Given the description of an element on the screen output the (x, y) to click on. 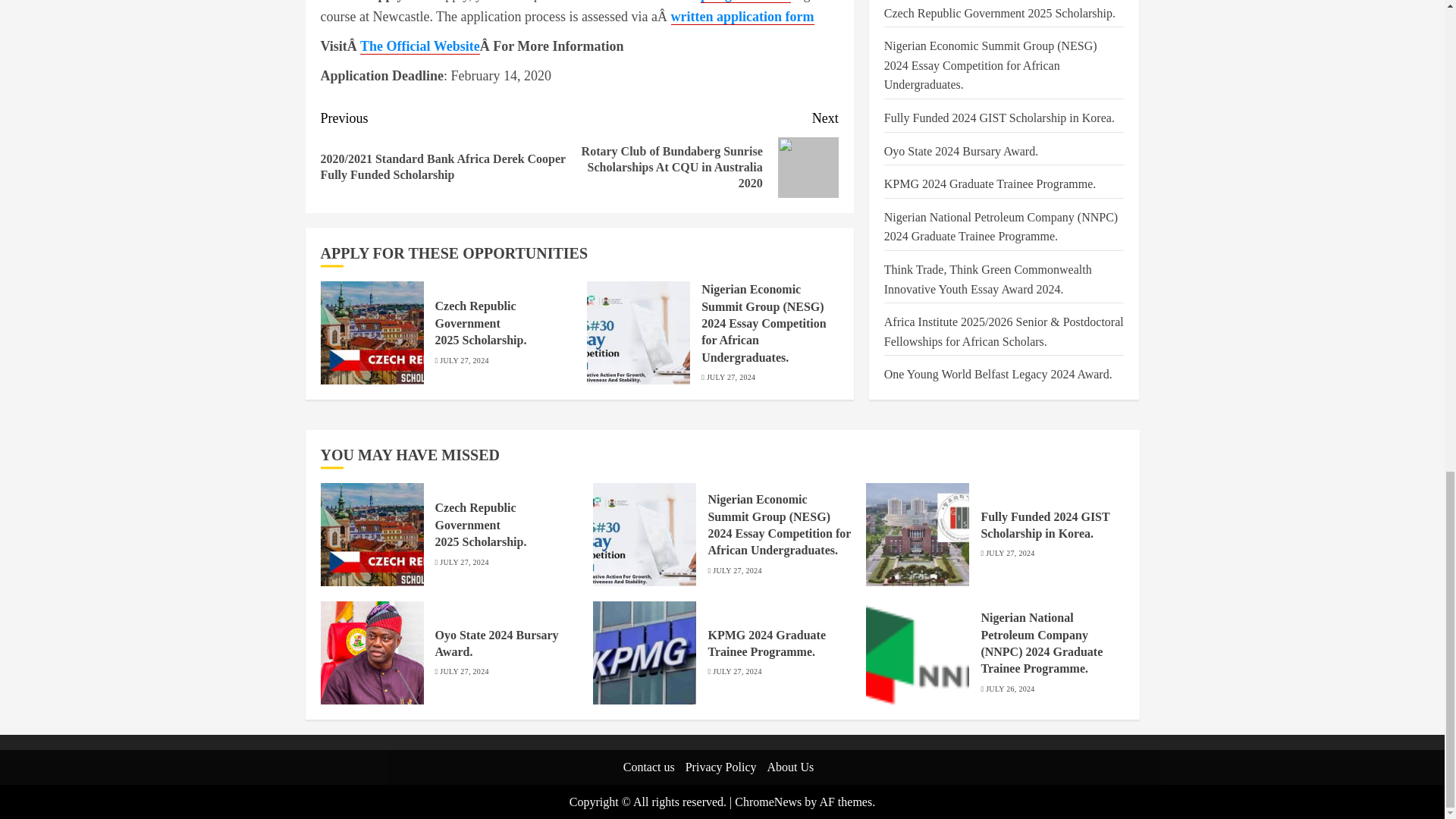
Czech Republic Government 2025 Scholarship. (371, 332)
JULY 27, 2024 (463, 360)
The Official Website (419, 46)
Czech Republic Government 2025 Scholarship. (481, 323)
JULY 27, 2024 (730, 377)
postgraduate (738, 1)
written application form (742, 17)
